Given the description of an element on the screen output the (x, y) to click on. 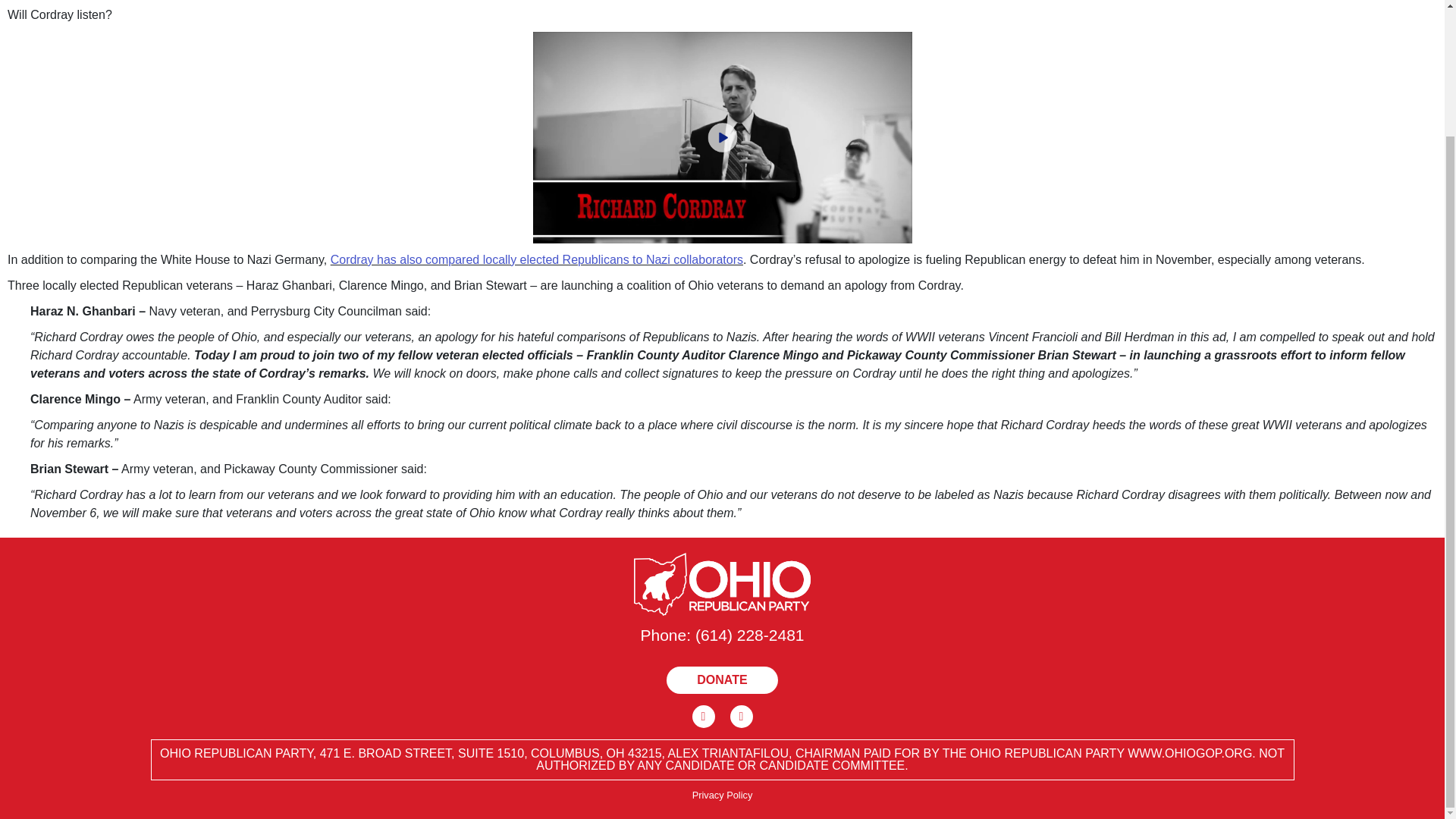
DONATE (721, 679)
Privacy Policy (722, 791)
